Given the description of an element on the screen output the (x, y) to click on. 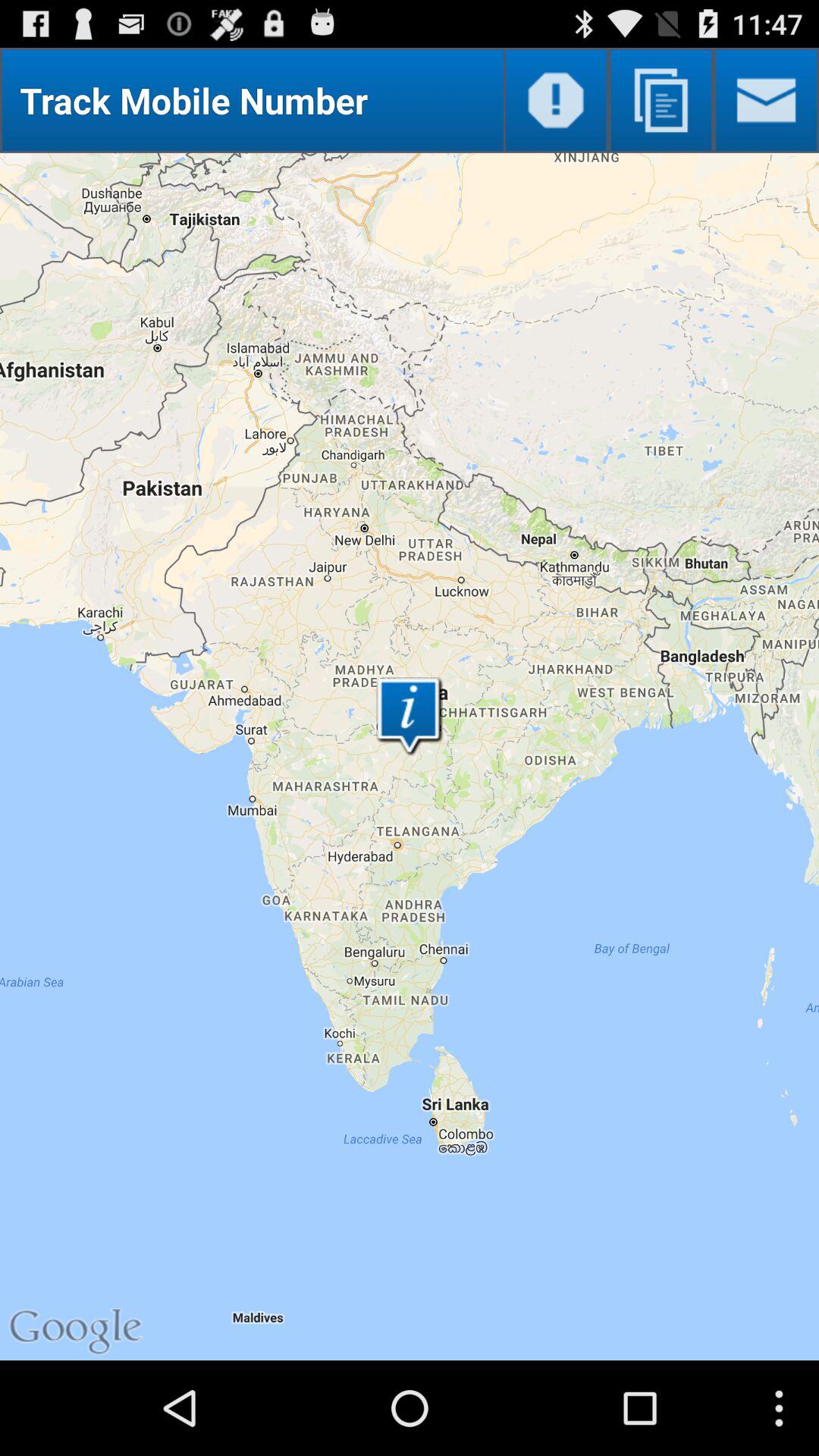
open warnings (555, 99)
